Given the description of an element on the screen output the (x, y) to click on. 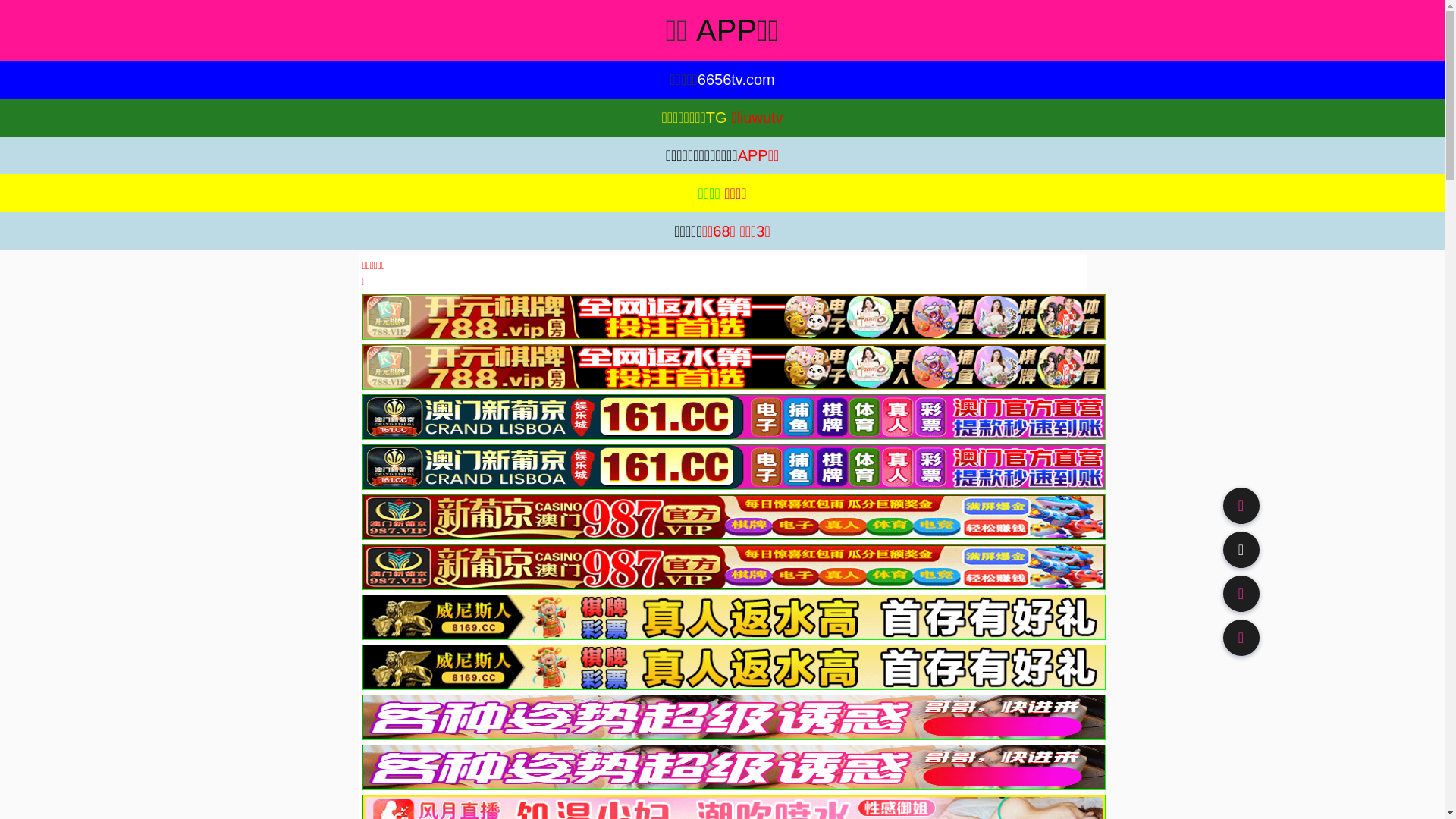
91TV Element type: hover (1240, 593)
